Given the description of an element on the screen output the (x, y) to click on. 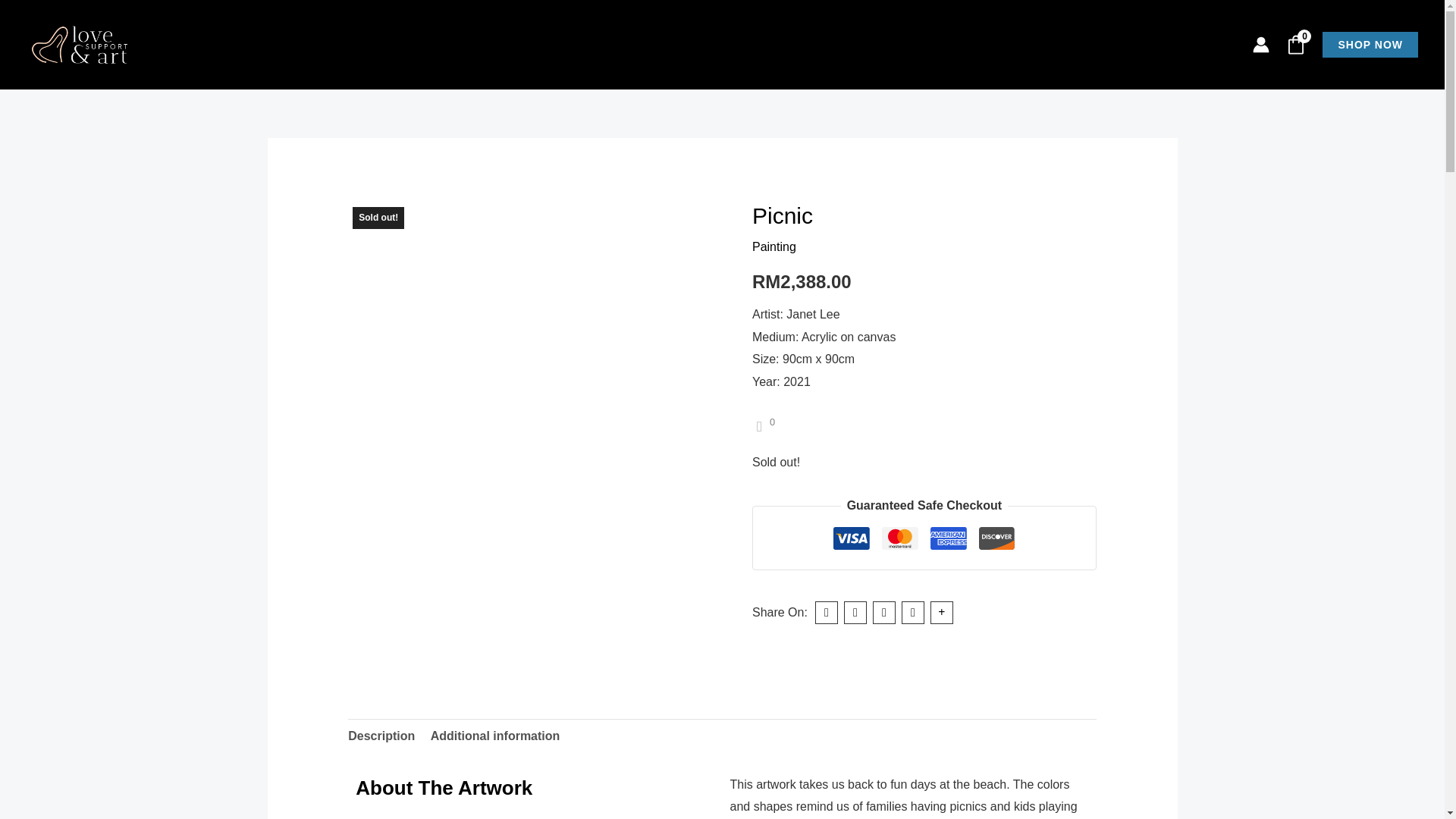
SHOP NOW (1370, 44)
Additional information (495, 736)
Painting (774, 246)
Description (380, 736)
